Given the description of an element on the screen output the (x, y) to click on. 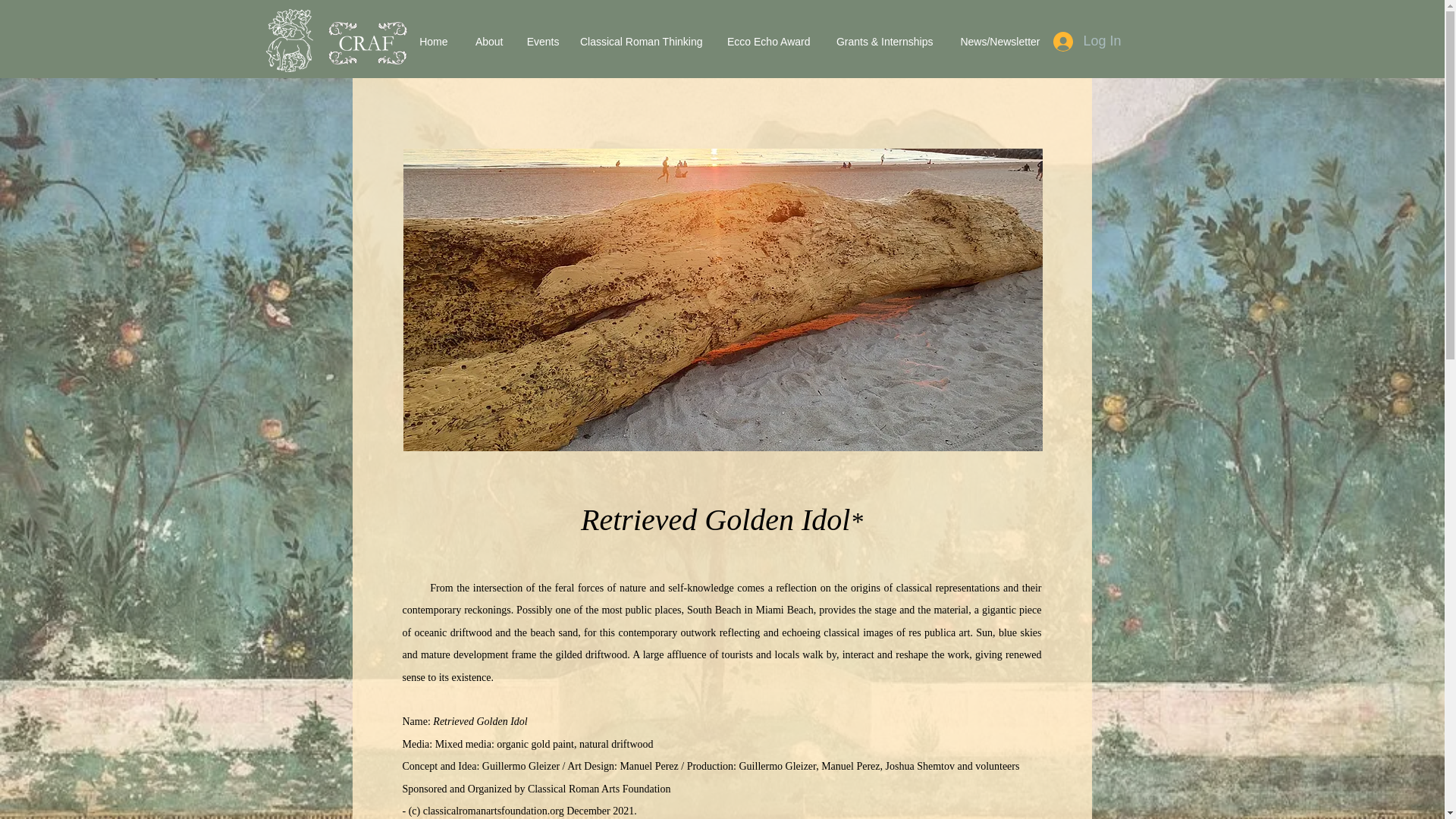
Home (428, 41)
Ecco Echo Award (763, 41)
Log In (1086, 41)
About (482, 41)
Classical Roman Thinking (638, 41)
